Given the description of an element on the screen output the (x, y) to click on. 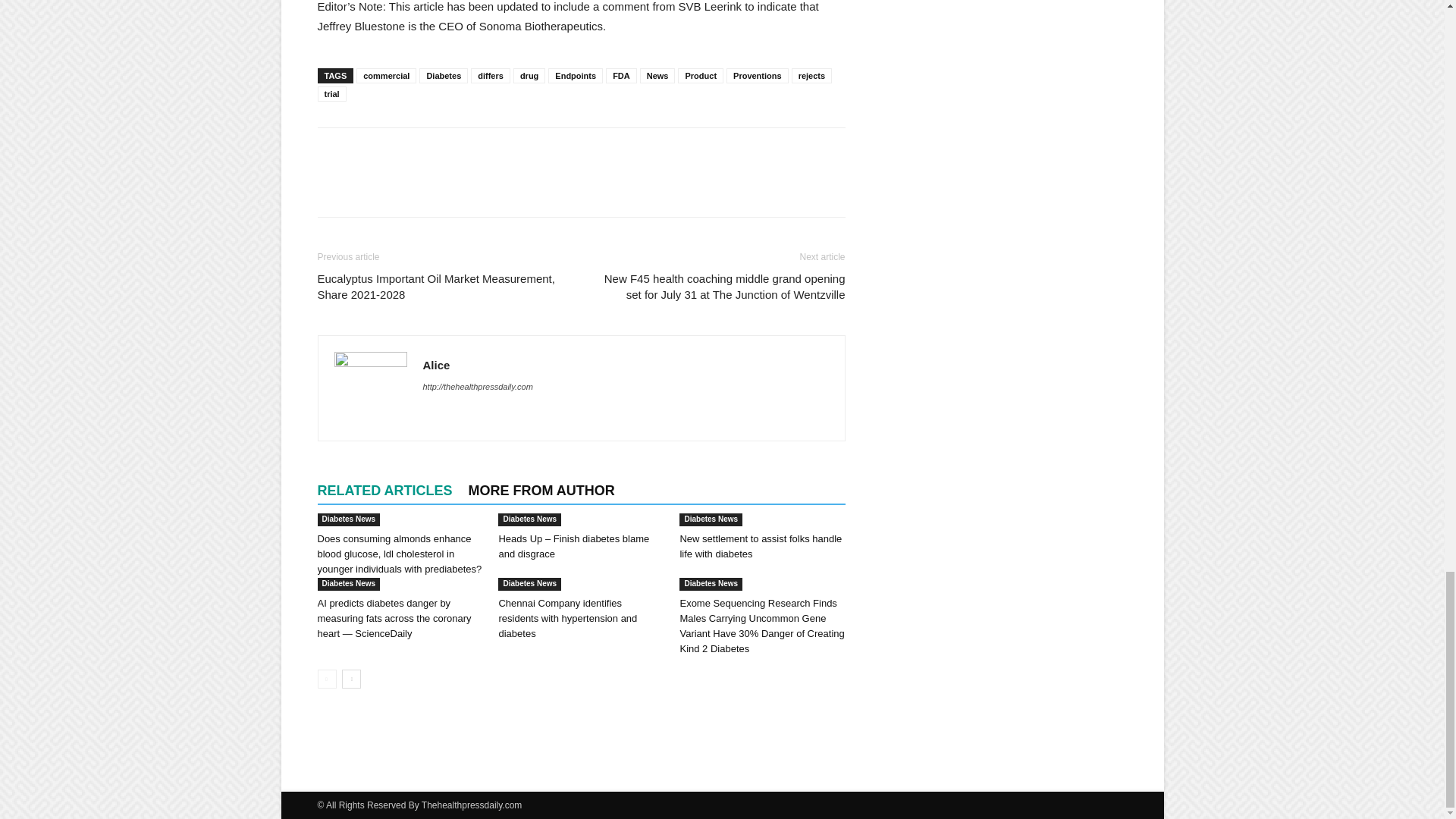
commercial (386, 75)
